Given the description of an element on the screen output the (x, y) to click on. 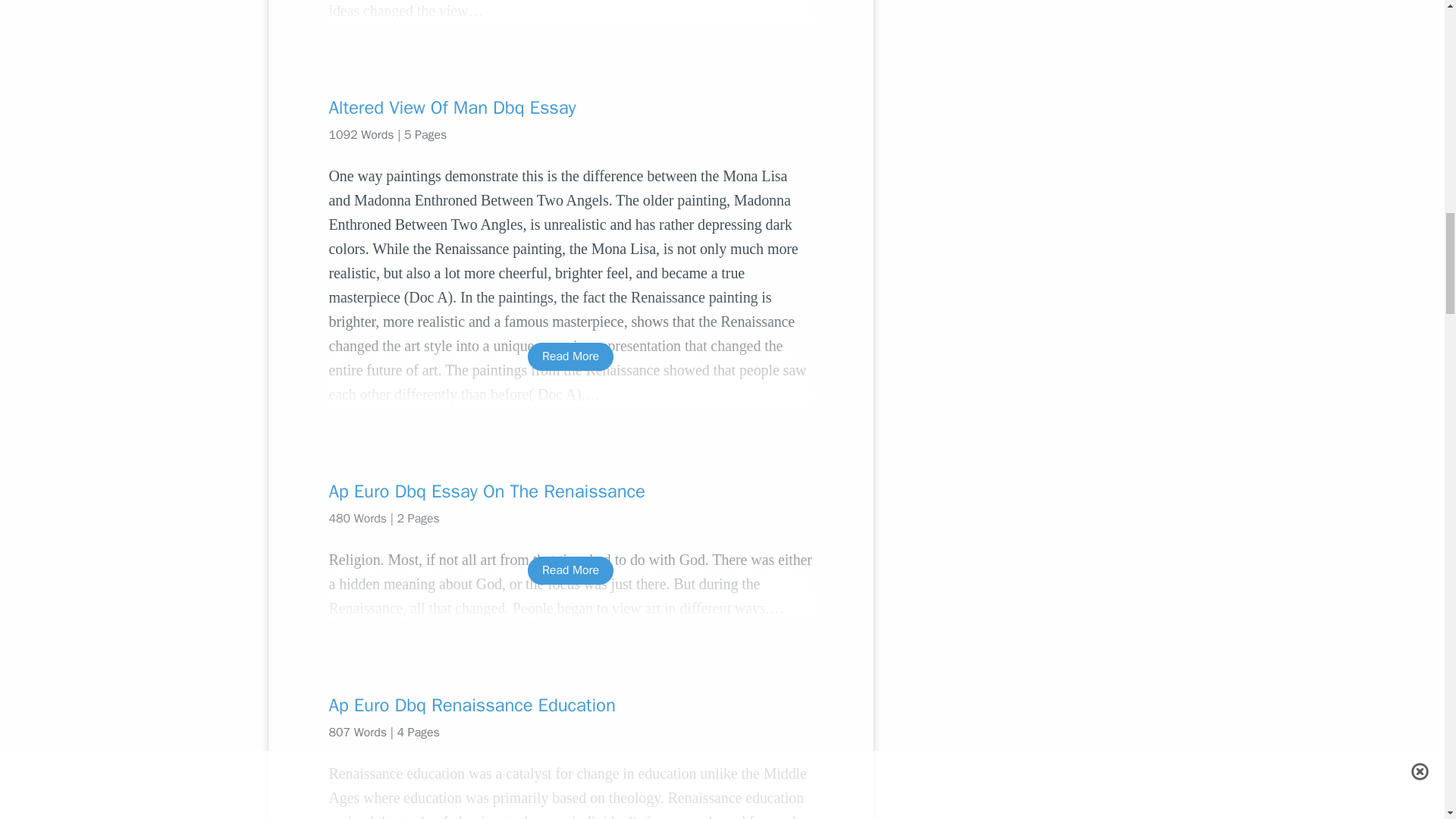
Ap Euro Dbq Essay On The Renaissance (570, 491)
Read More (569, 570)
Ap Euro Dbq Renaissance Education (570, 704)
Read More (569, 357)
Altered View Of Man Dbq Essay (570, 107)
